Given the description of an element on the screen output the (x, y) to click on. 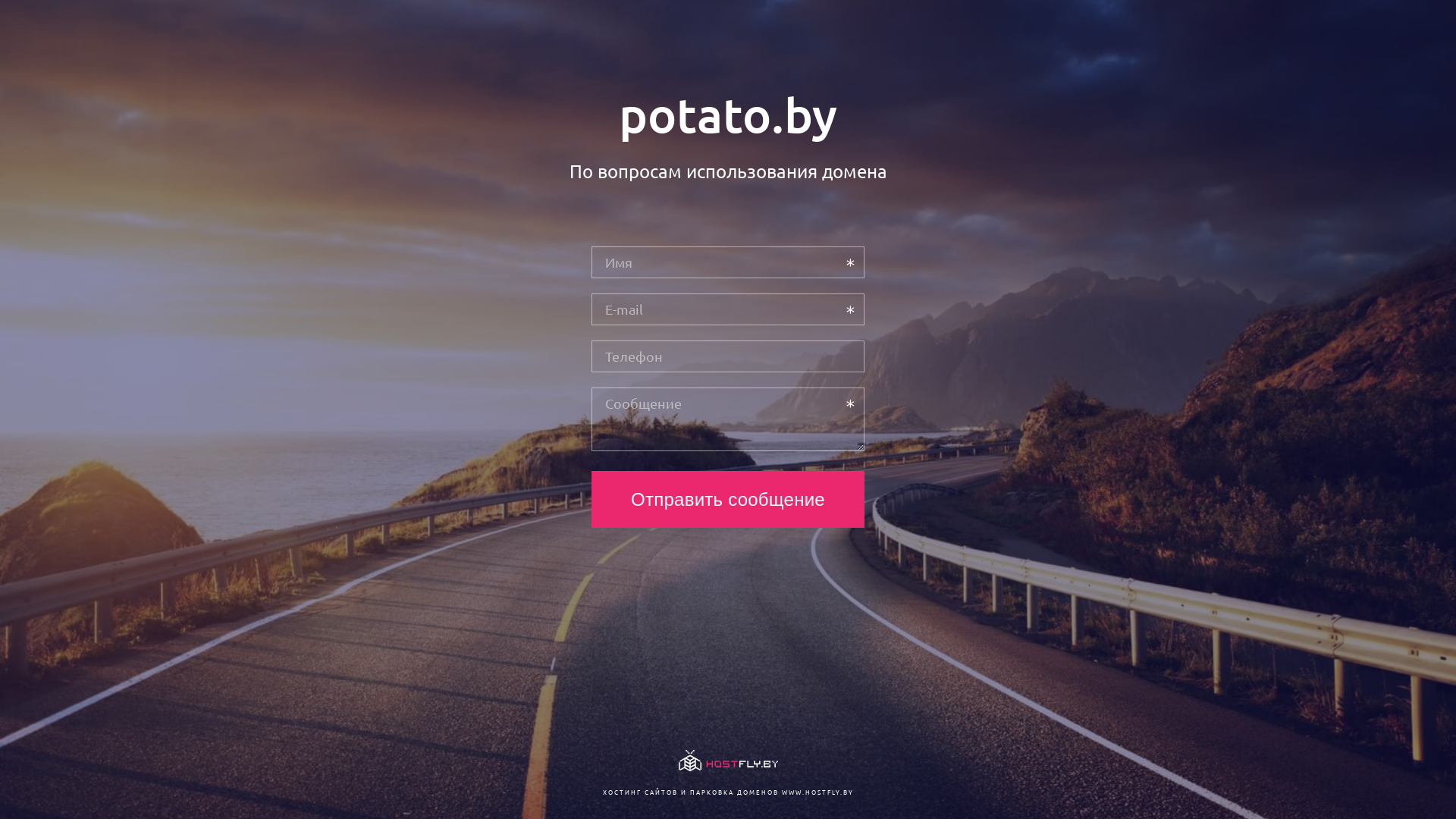
WWW.HOSTFLY.BY Element type: text (817, 791)
